Given the description of an element on the screen output the (x, y) to click on. 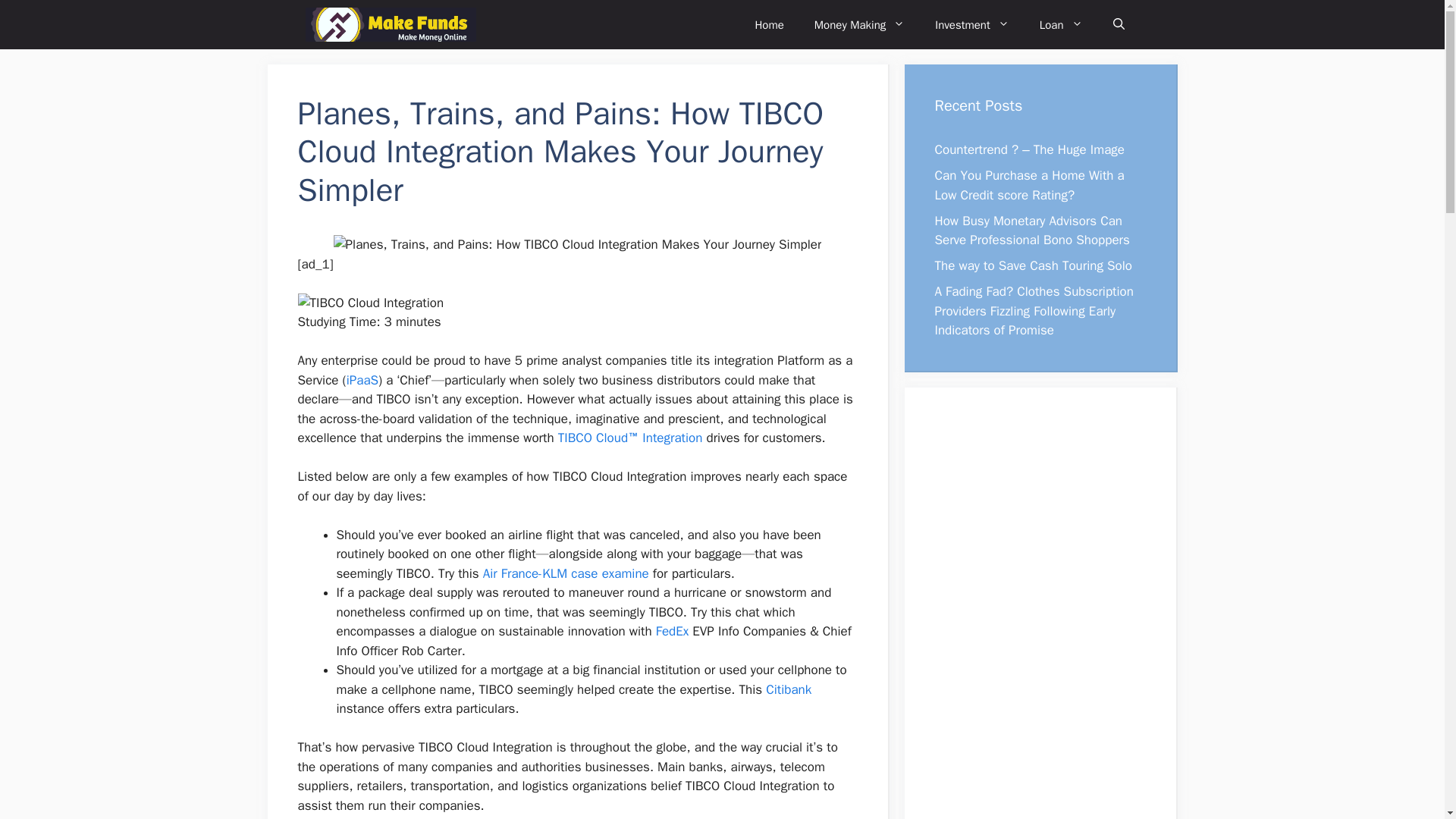
Home (768, 23)
Money Making (859, 23)
Advertisement (1031, 621)
Air France-KLM case examine (566, 573)
Investment (972, 23)
Citibank (787, 689)
TIBCO Cloud Integration (370, 302)
Loan (1061, 23)
Make Funds Internet (390, 24)
FedEx (672, 631)
iPaaS (362, 380)
